Given the description of an element on the screen output the (x, y) to click on. 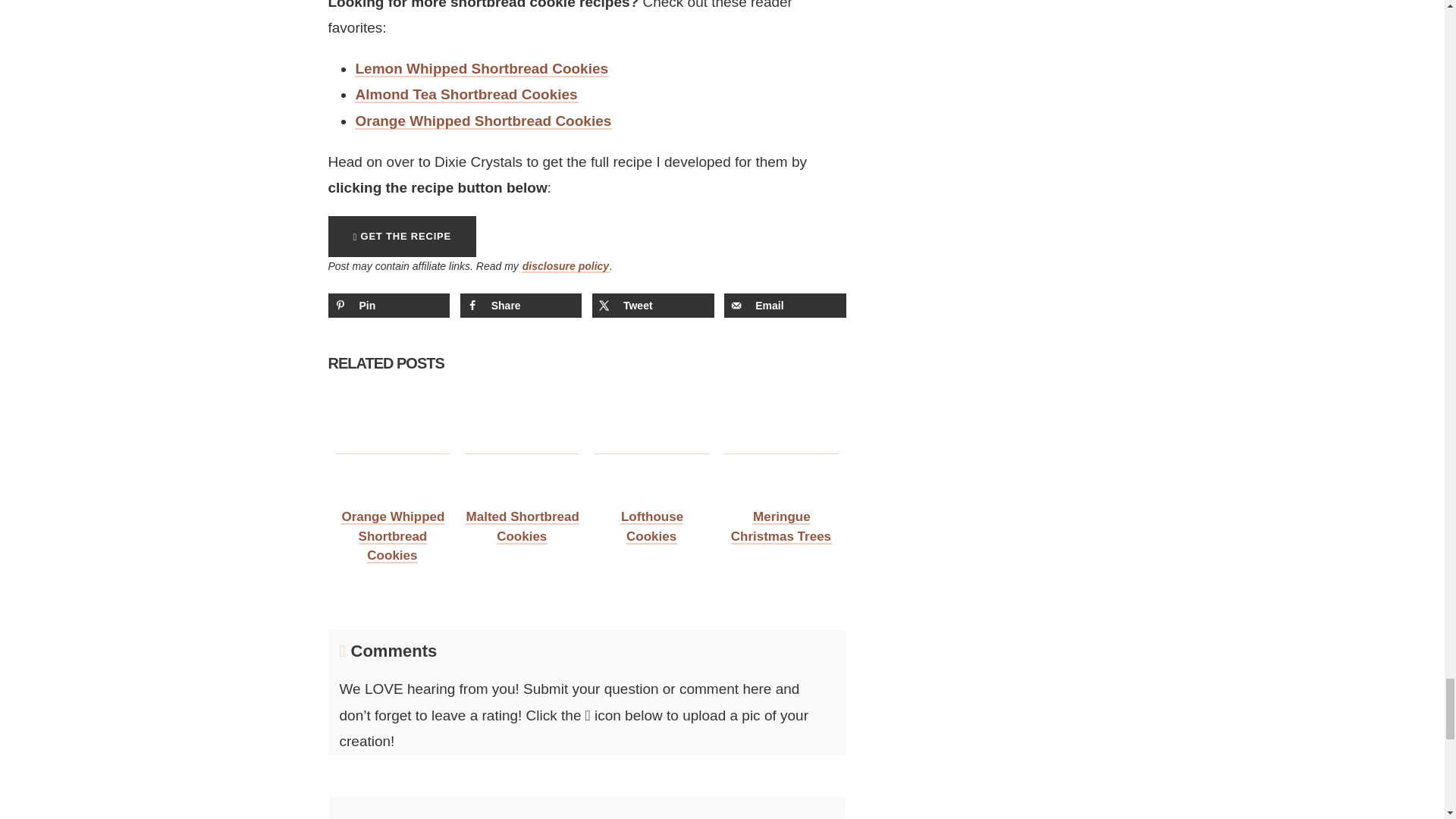
Share on X (653, 305)
Save to Pinterest (388, 305)
External link (401, 236)
Send over email (784, 305)
Share on Facebook (521, 305)
